Given the description of an element on the screen output the (x, y) to click on. 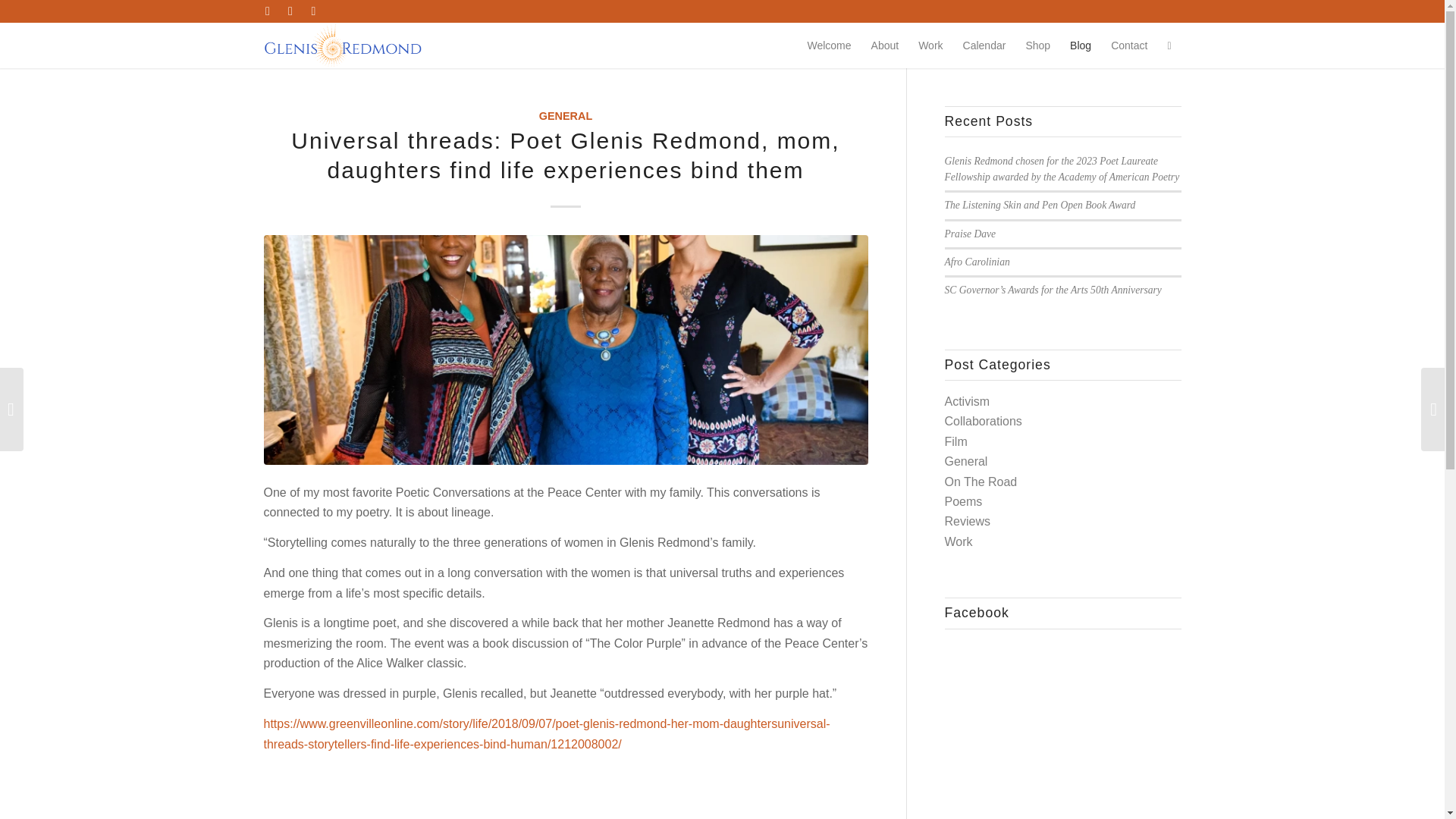
Activism (967, 400)
Film (956, 440)
Youtube (290, 11)
Calendar (984, 44)
GENERAL (565, 115)
About (884, 44)
Instagram (312, 11)
Welcome (828, 44)
Shop (1036, 44)
Afro Carolinian (977, 261)
Collaborations (983, 420)
Work (930, 44)
Blog (1079, 44)
The Listening Skin and Pen Open Book Award (1039, 204)
Praise Dave (969, 233)
